Given the description of an element on the screen output the (x, y) to click on. 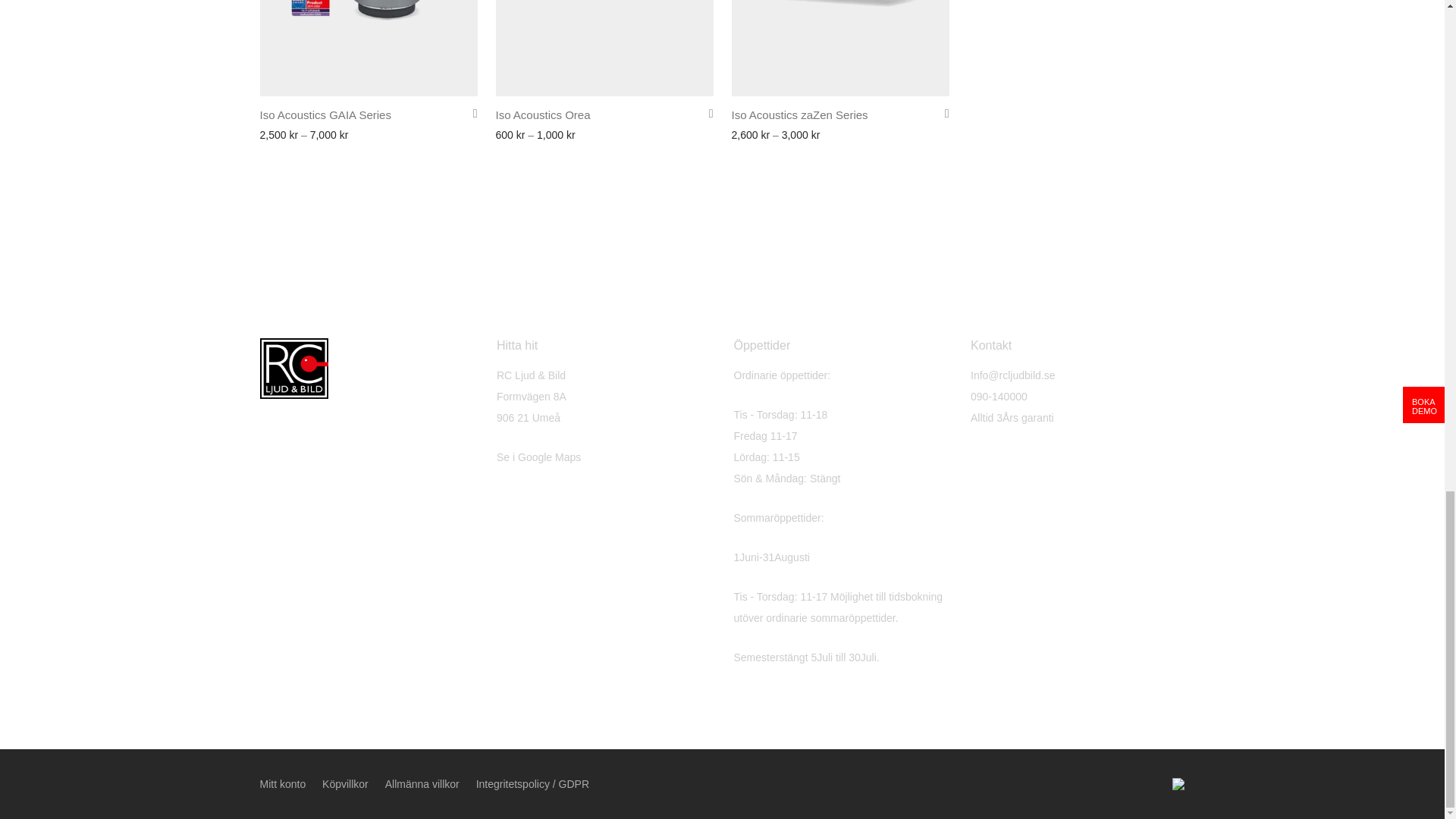
Iso Acoustics Orea (543, 114)
Iso Acoustics GAIA Series (324, 114)
Iso Acoustics zaZen Series (798, 114)
